Given the description of an element on the screen output the (x, y) to click on. 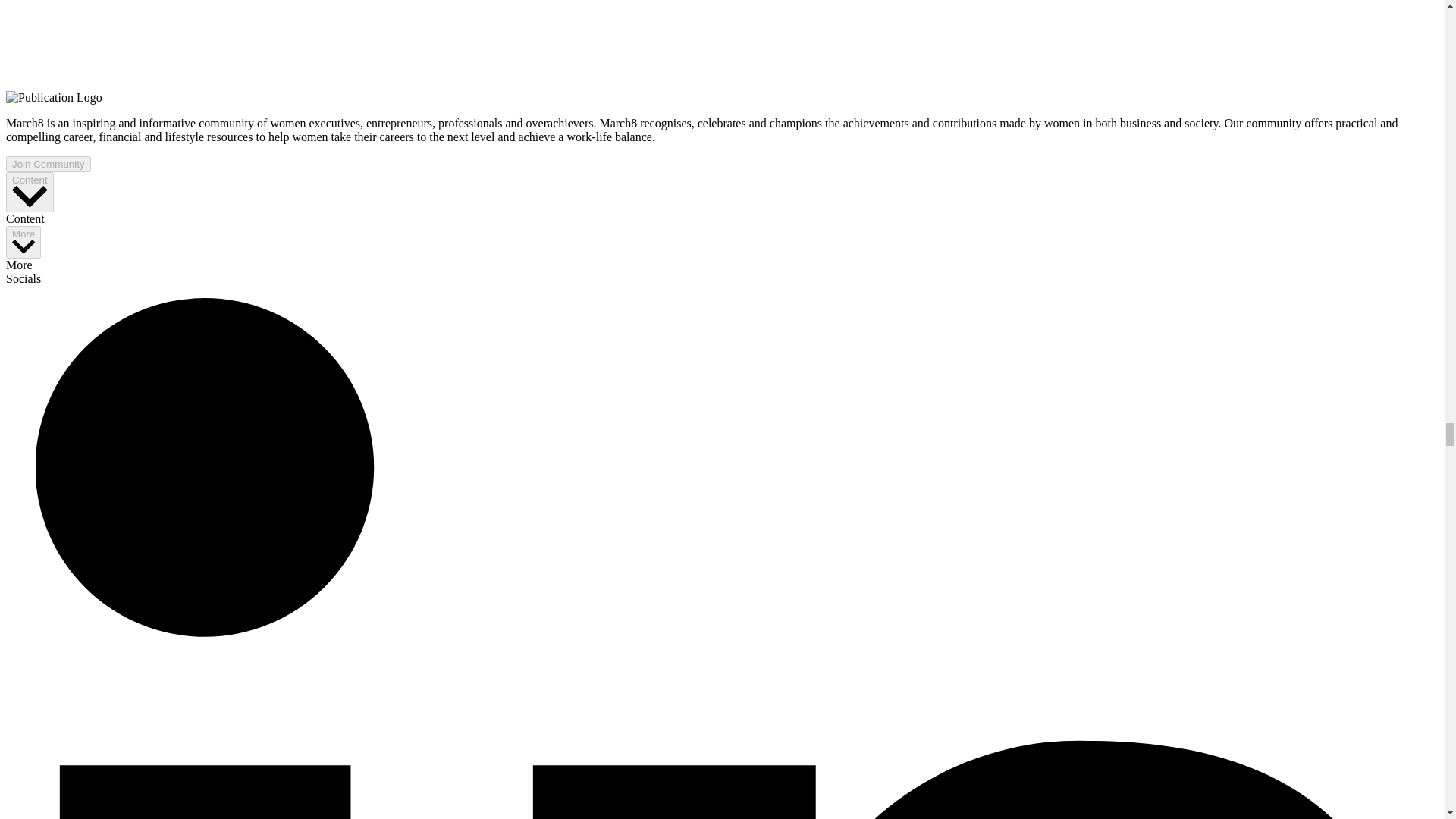
More (22, 242)
Join Community (47, 163)
Content (29, 191)
